Given the description of an element on the screen output the (x, y) to click on. 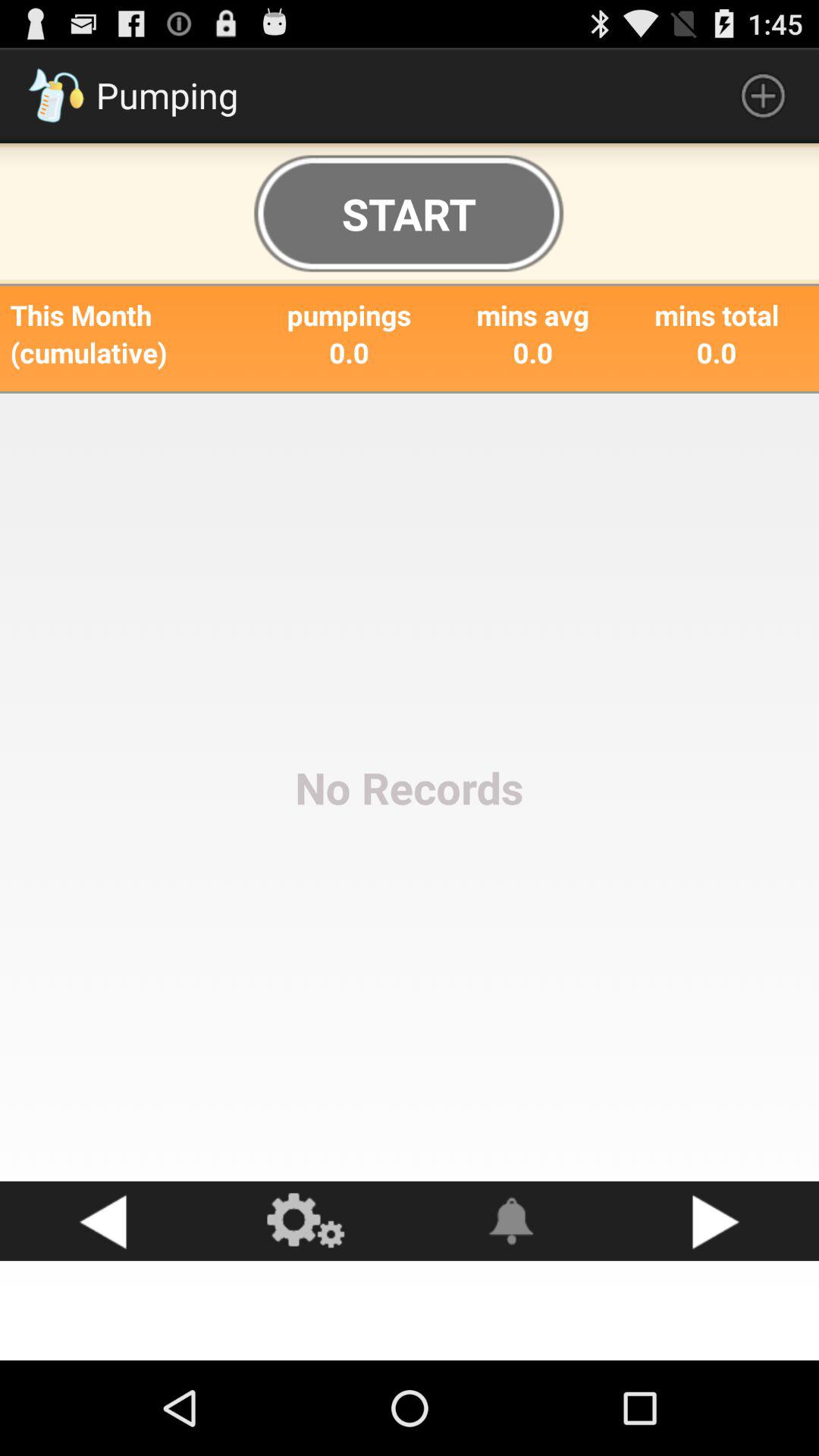
go to previous (102, 1220)
